Given the description of an element on the screen output the (x, y) to click on. 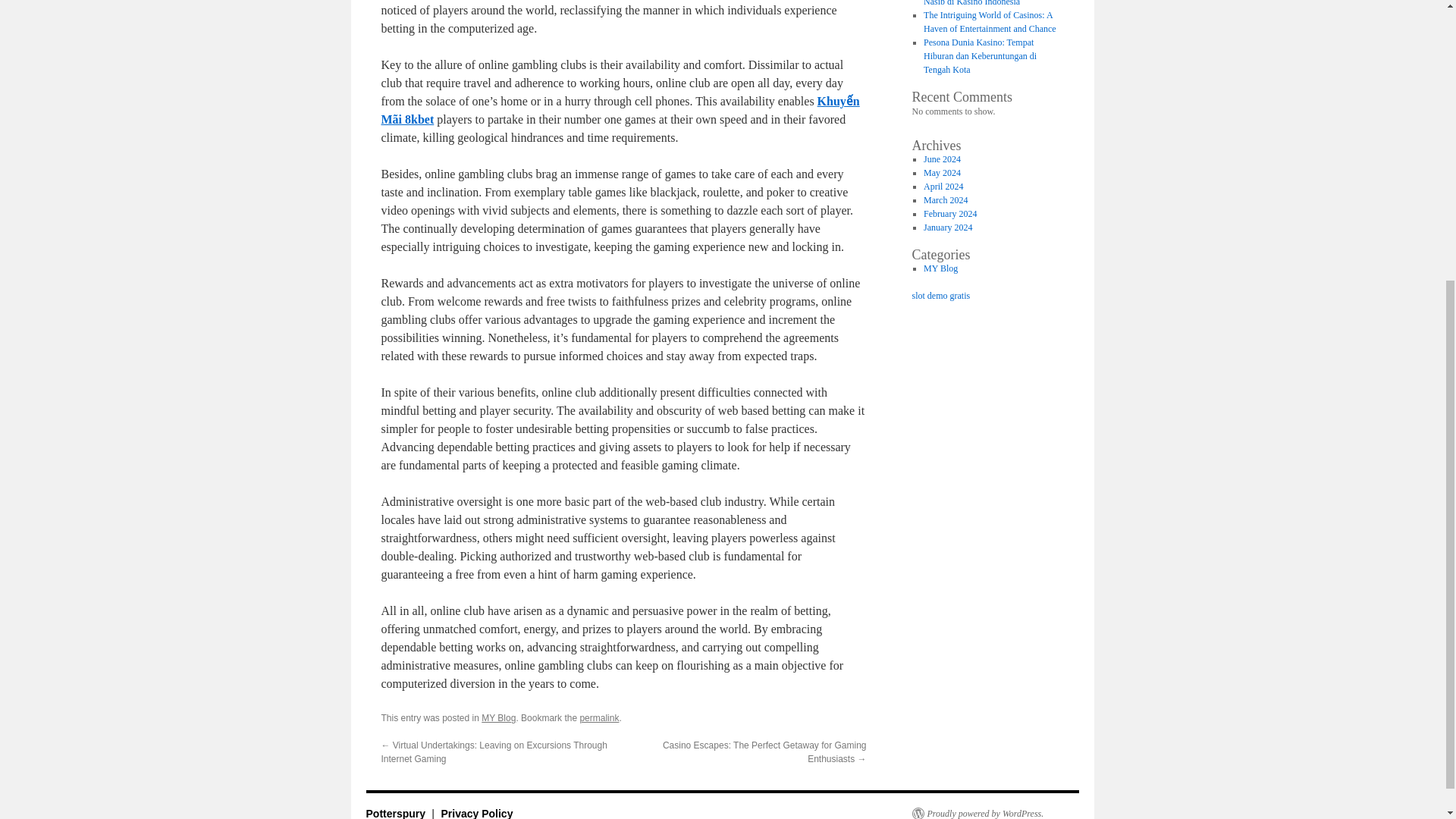
slot demo gratis (940, 295)
June 2024 (941, 158)
permalink (598, 717)
Roda Keberuntungan: Menantang Nasib di Kasino Indonesia (984, 3)
MY Blog (498, 717)
May 2024 (941, 172)
MY Blog (940, 267)
February 2024 (949, 213)
January 2024 (947, 226)
March 2024 (945, 199)
April 2024 (942, 185)
